Given the description of an element on the screen output the (x, y) to click on. 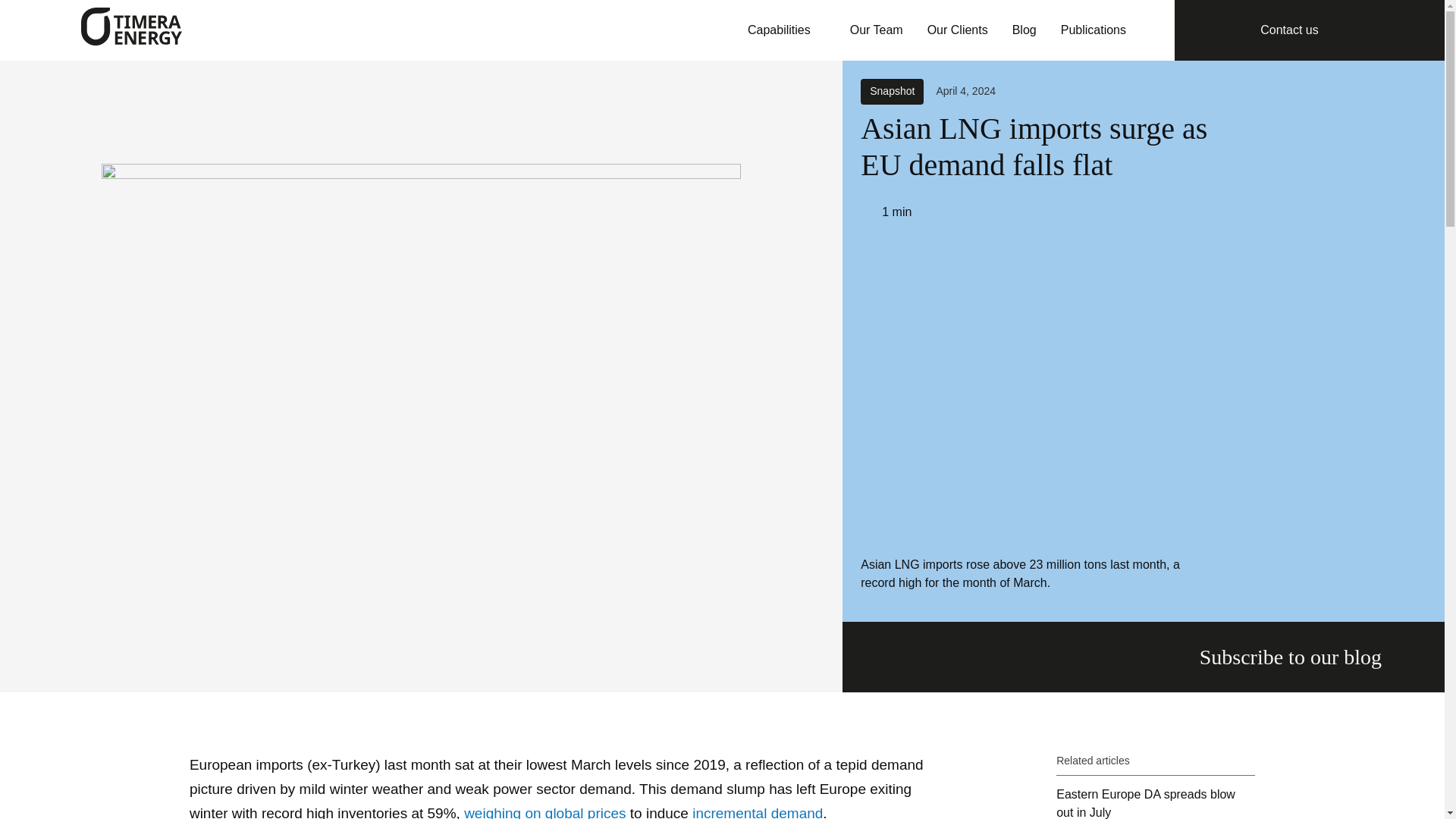
Eastern Europe DA spreads blow out in July (1156, 802)
incremental demand (757, 812)
weighing on global prices (545, 812)
Capabilities (786, 30)
Publications (1093, 30)
Our Clients (957, 30)
